Given the description of an element on the screen output the (x, y) to click on. 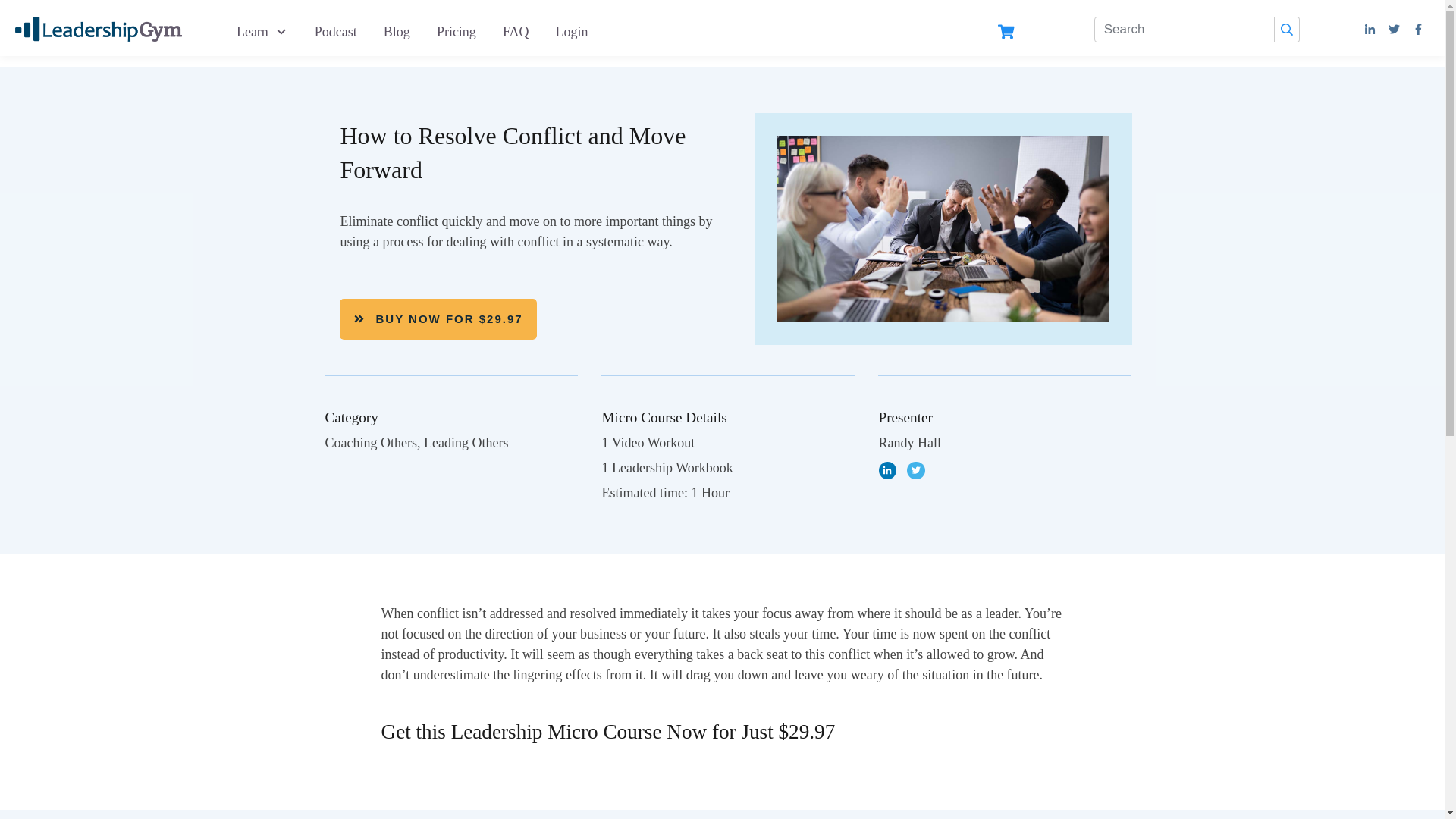
FAQ (515, 31)
Pricing (456, 31)
How to Eliminate Conflict and Move Forward (943, 228)
Learn (261, 31)
Login (572, 31)
Podcast (335, 31)
Blog (397, 31)
